Given the description of an element on the screen output the (x, y) to click on. 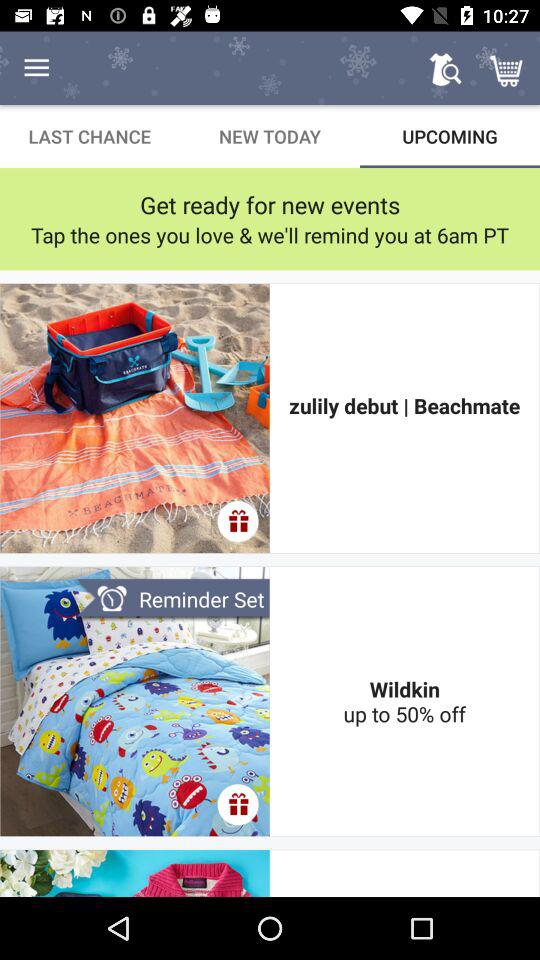
scroll to zulily debut | beachmate
 icon (404, 418)
